Given the description of an element on the screen output the (x, y) to click on. 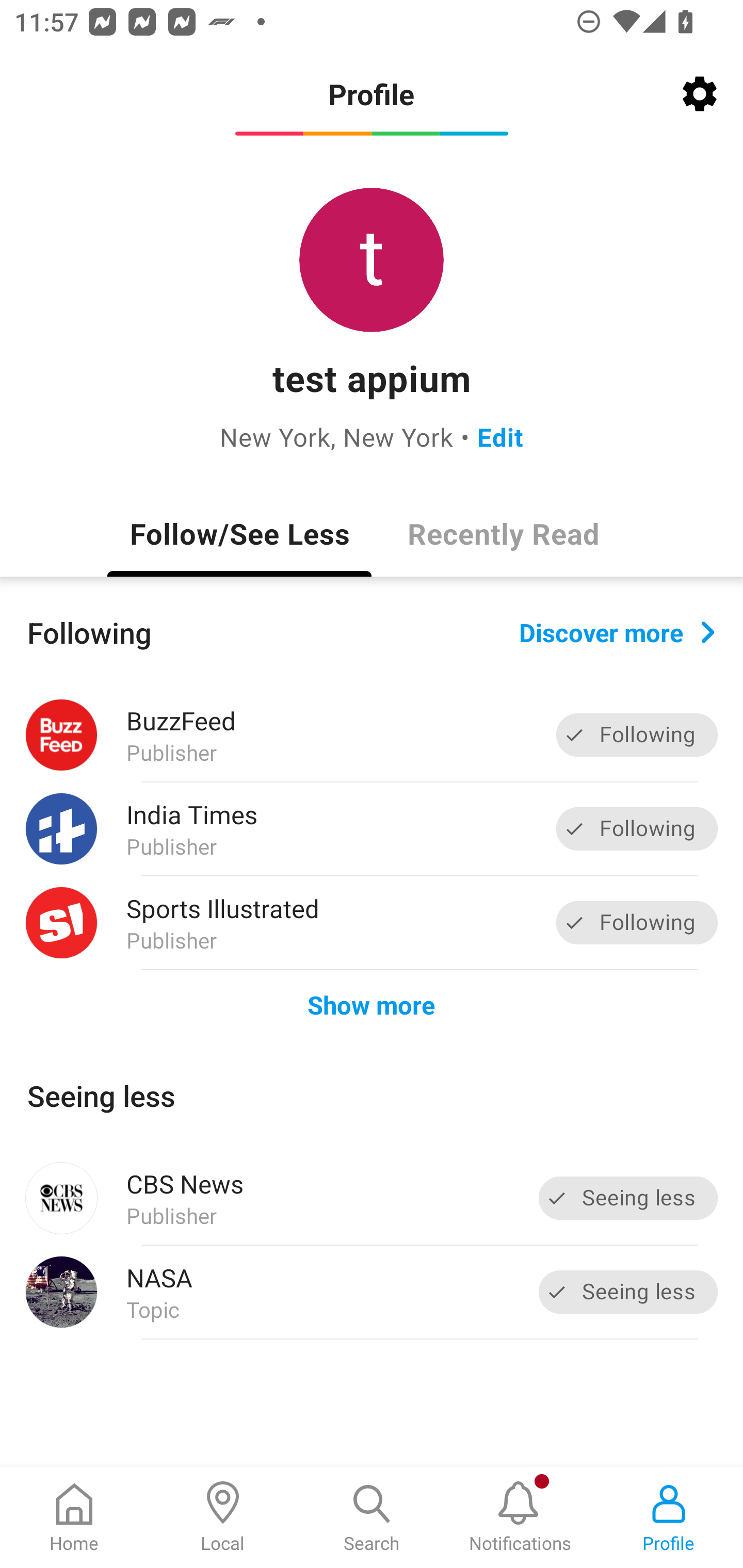
Settings (699, 93)
Edit (500, 436)
Recently Read (503, 533)
Discover more (617, 631)
BuzzFeed Publisher Following (371, 735)
Following (636, 735)
India Times Publisher Following (371, 829)
Following (636, 828)
Sports Illustrated Publisher Following (371, 922)
Following (636, 922)
Show more (371, 1004)
CBS News Publisher Seeing less (371, 1197)
Seeing less (627, 1197)
NASA Topic Seeing less (371, 1291)
Seeing less (627, 1291)
Home (74, 1517)
Local (222, 1517)
Search (371, 1517)
Notifications, New notification Notifications (519, 1517)
